Given the description of an element on the screen output the (x, y) to click on. 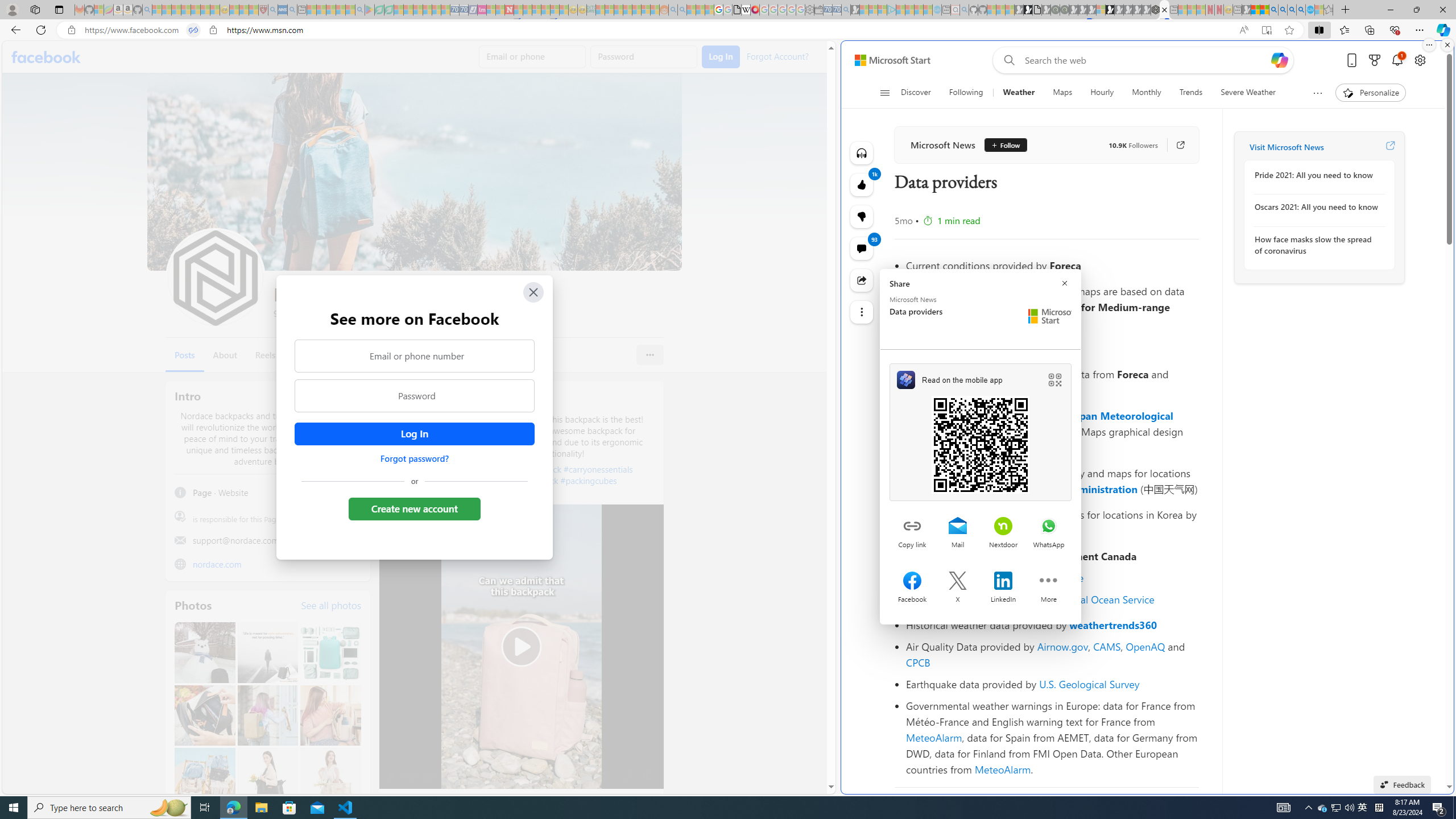
Airnow.gov (1062, 646)
Show more topics (1316, 92)
Share this story (861, 279)
Class: at-item (861, 312)
weathertrends360 (1112, 625)
Password (414, 395)
Share on LinkedIn (1002, 581)
Services - Maintenance | Sky Blue Bikes - Sky Blue Bikes (1309, 9)
